Given the description of an element on the screen output the (x, y) to click on. 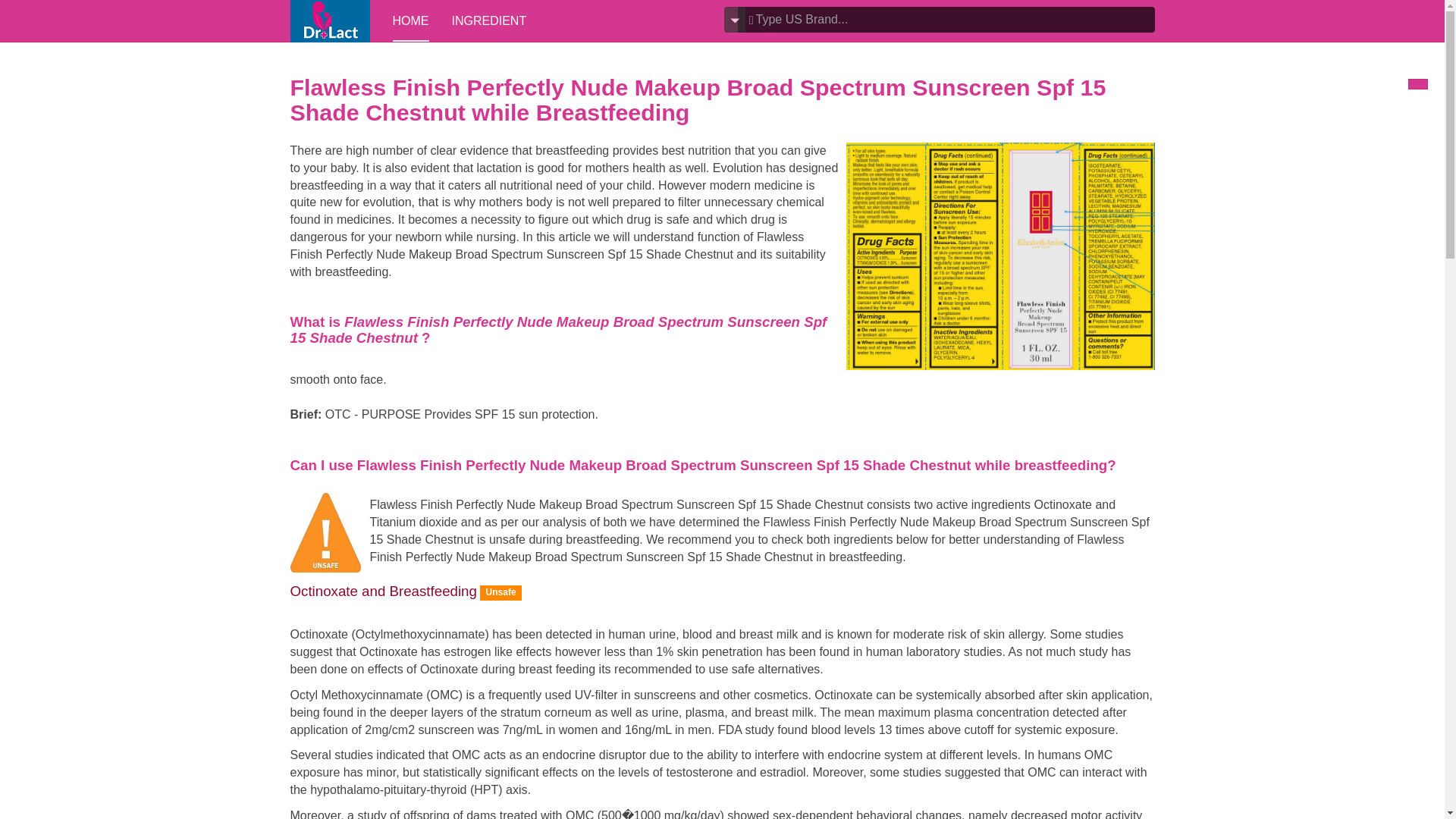
HOME (411, 20)
Back to Top (1417, 83)
Dr. Lact (329, 20)
INGREDIENT (489, 20)
